Given the description of an element on the screen output the (x, y) to click on. 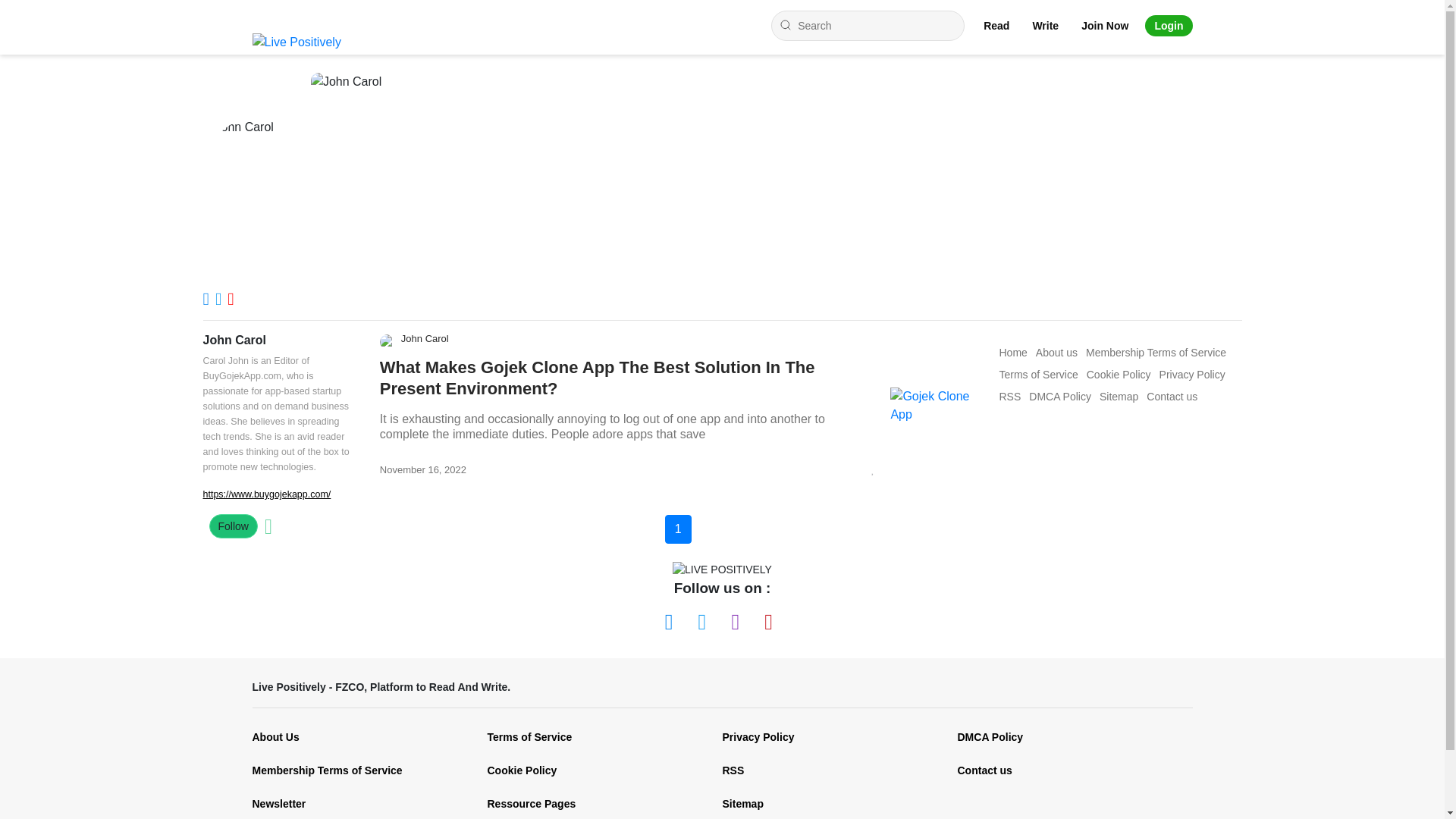
Join Now (1104, 25)
Write (1045, 25)
Livepositively (301, 42)
Login (1168, 25)
Read (996, 25)
